Given the description of an element on the screen output the (x, y) to click on. 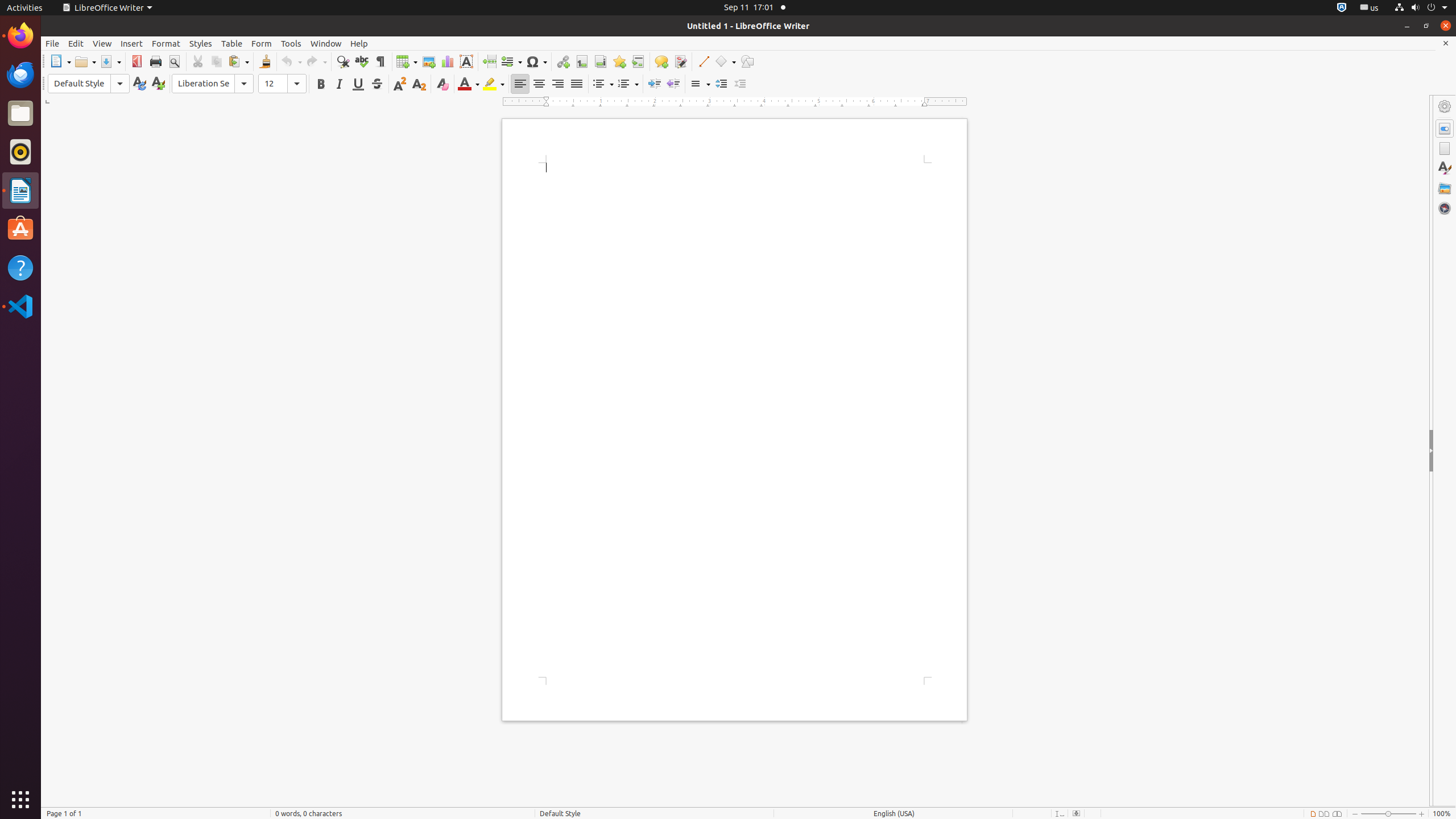
Cross-reference Element type: push-button (637, 61)
Draw Functions Element type: push-button (746, 61)
Cut Element type: push-button (197, 61)
Edit Element type: menu (75, 43)
Copy Element type: push-button (216, 61)
